Given the description of an element on the screen output the (x, y) to click on. 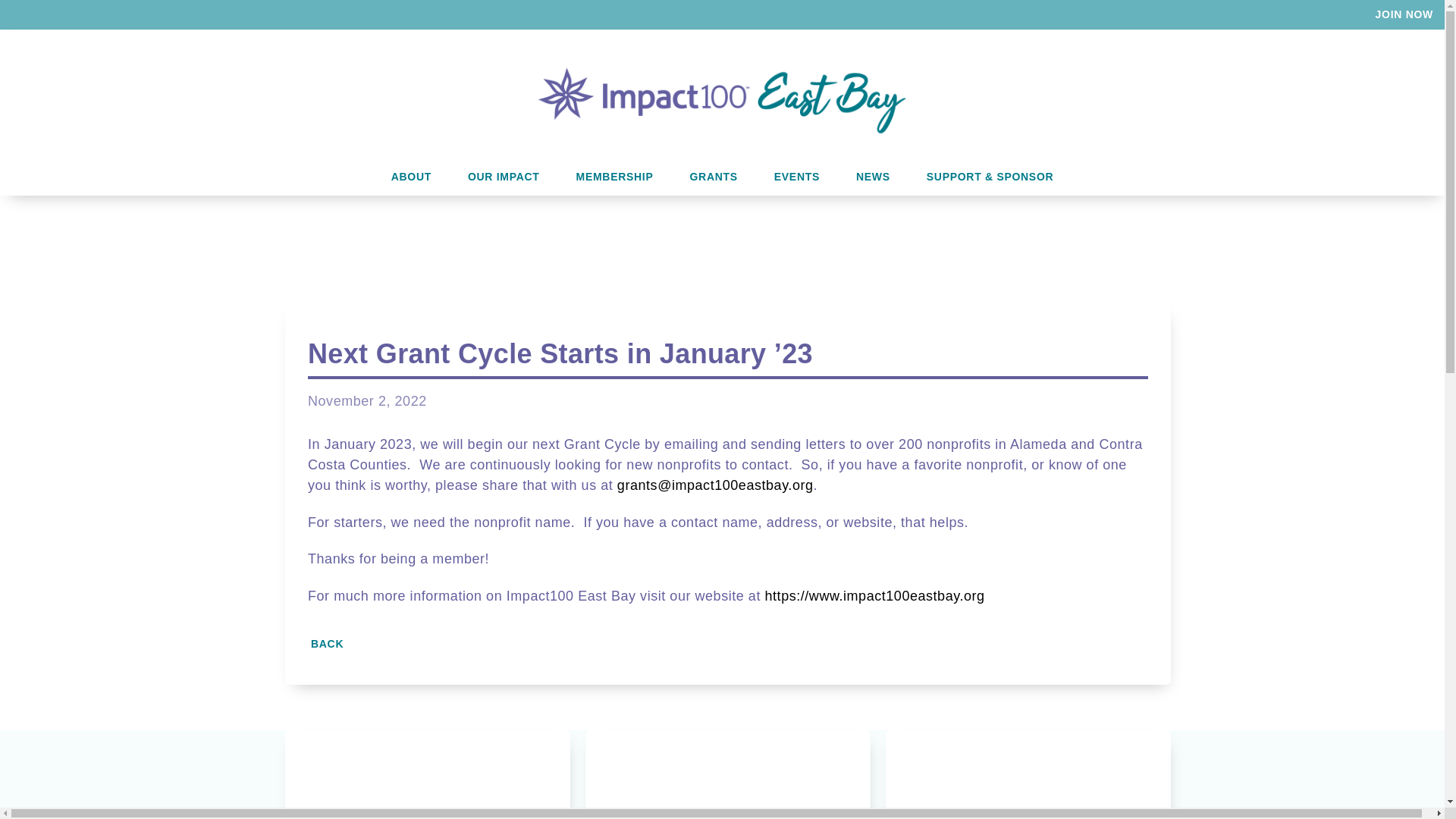
NEWS (873, 176)
OUR IMPACT (503, 176)
GRANTS (712, 176)
MEMBERSHIP (614, 176)
JOIN NOW (1404, 14)
ABOUT (410, 176)
EVENTS (796, 176)
